Given the description of an element on the screen output the (x, y) to click on. 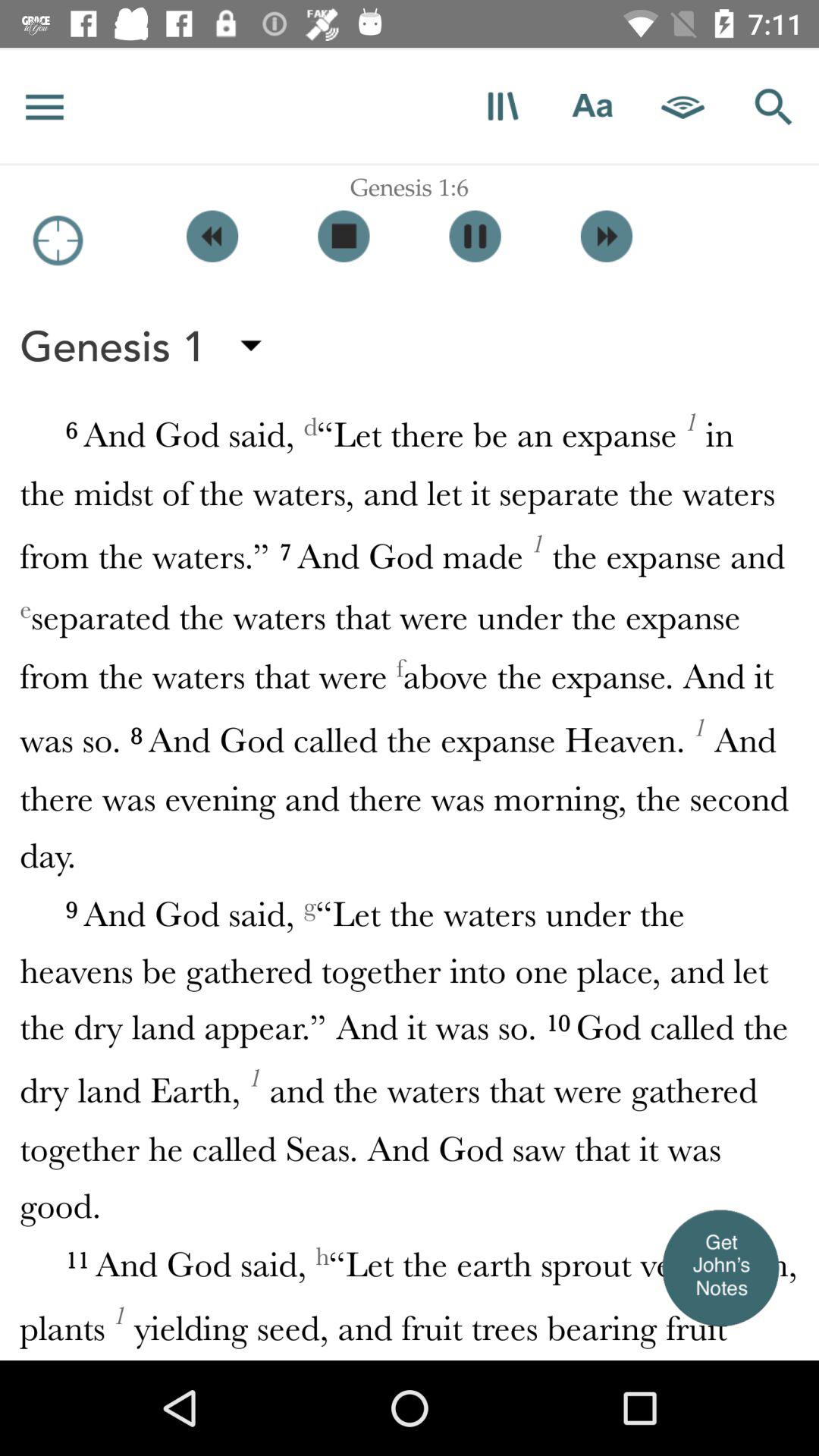
pause playback option (475, 236)
